Given the description of an element on the screen output the (x, y) to click on. 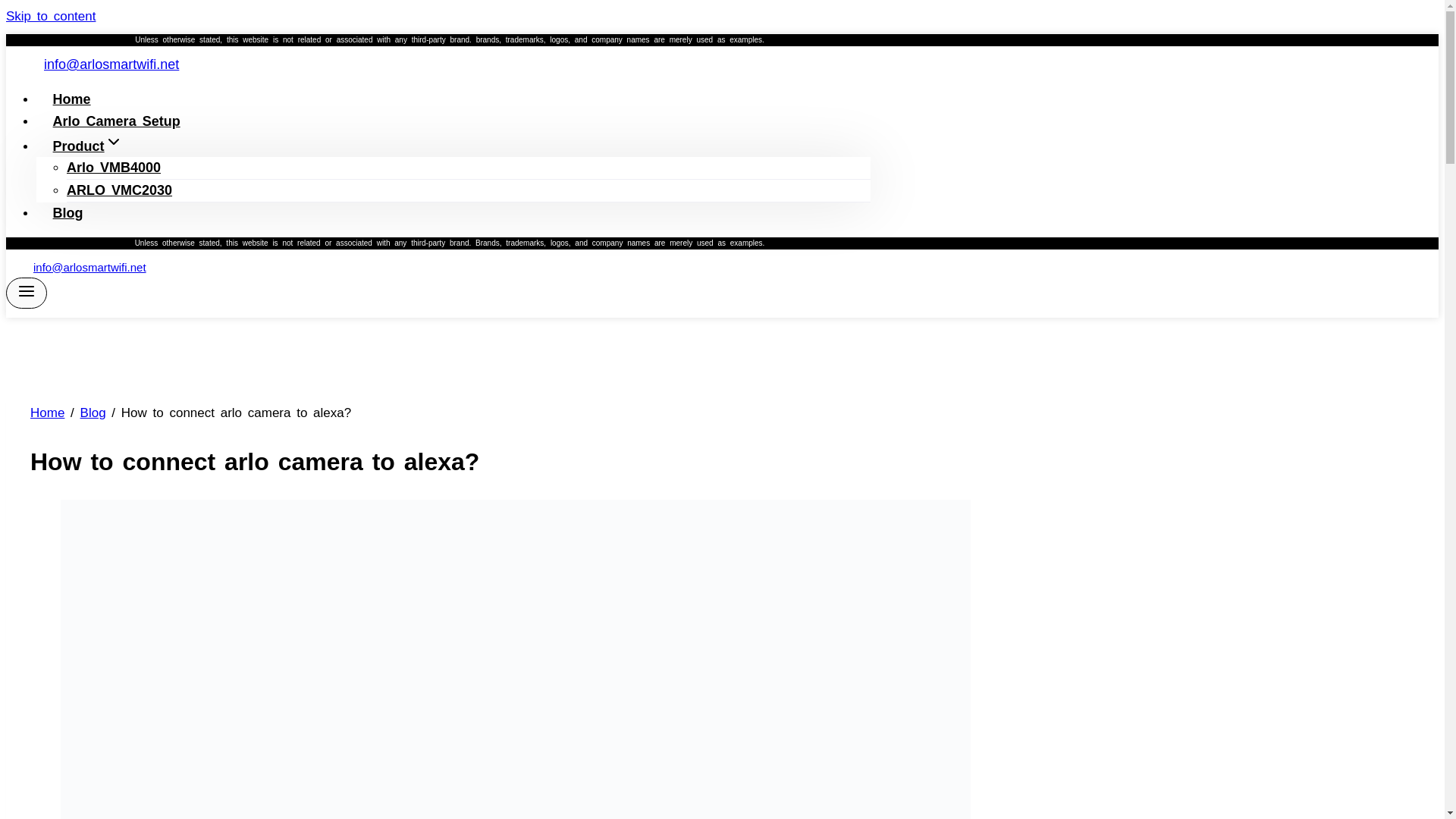
Home (47, 412)
ARLO VMC2030 (118, 189)
Skip to content (50, 16)
Home (71, 99)
Blog (93, 412)
Toggle Menu (25, 290)
Blog (67, 213)
ProductExpand (87, 146)
Arlo Camera Setup (116, 121)
Skip to content (50, 16)
Expand (113, 141)
Arlo VMB4000 (113, 167)
Toggle Menu (25, 292)
